Given the description of an element on the screen output the (x, y) to click on. 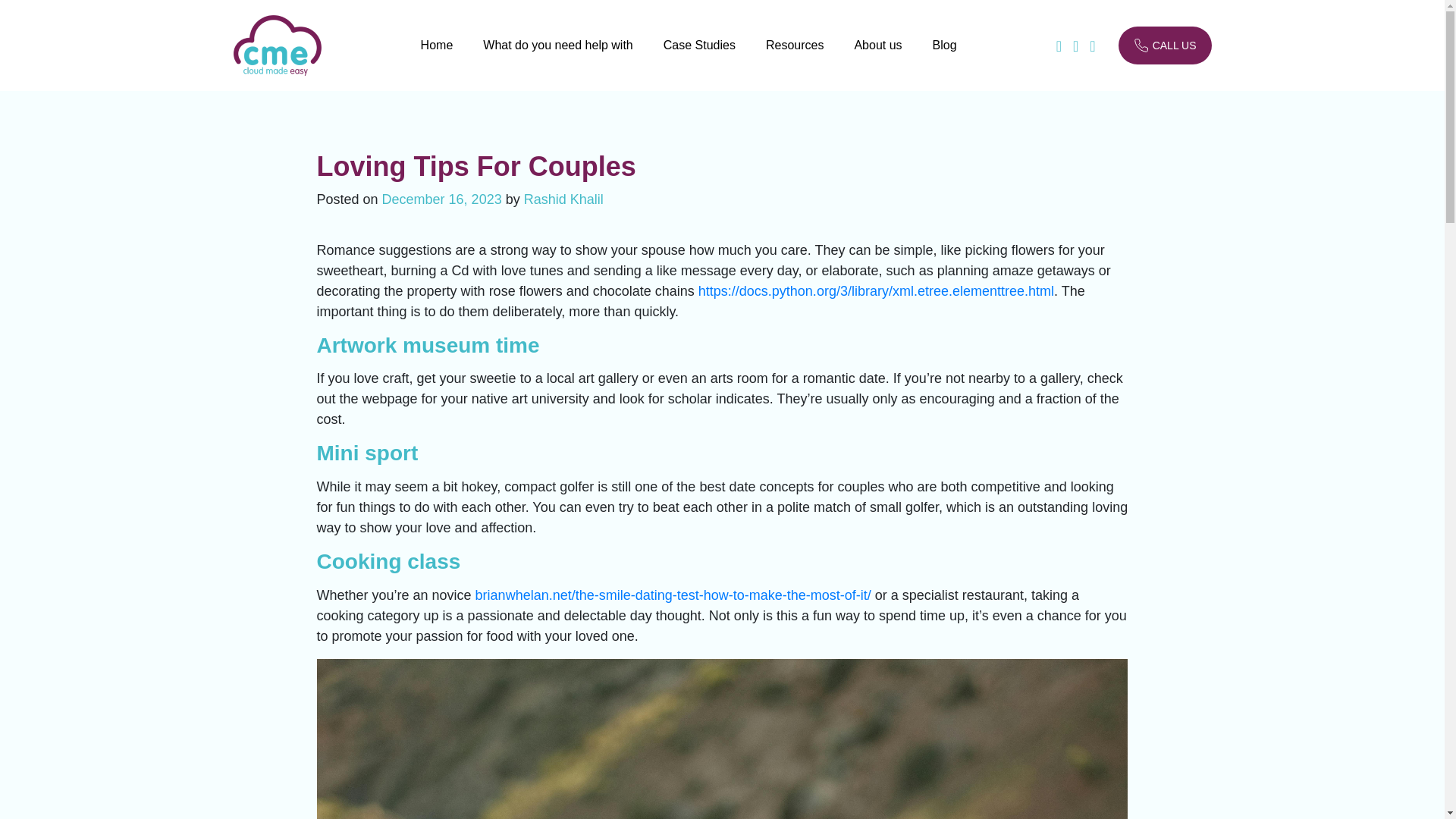
December 16, 2023 (441, 199)
CALL US (1164, 45)
About us (877, 57)
What do you need help with (557, 57)
Case Studies (699, 57)
Resources (794, 57)
Rashid Khalil (564, 199)
Blog (944, 57)
Blog (944, 57)
What do you need help with (557, 57)
Home (436, 57)
About us (877, 57)
Home (436, 57)
Case Studies (699, 57)
Resources (794, 57)
